Given the description of an element on the screen output the (x, y) to click on. 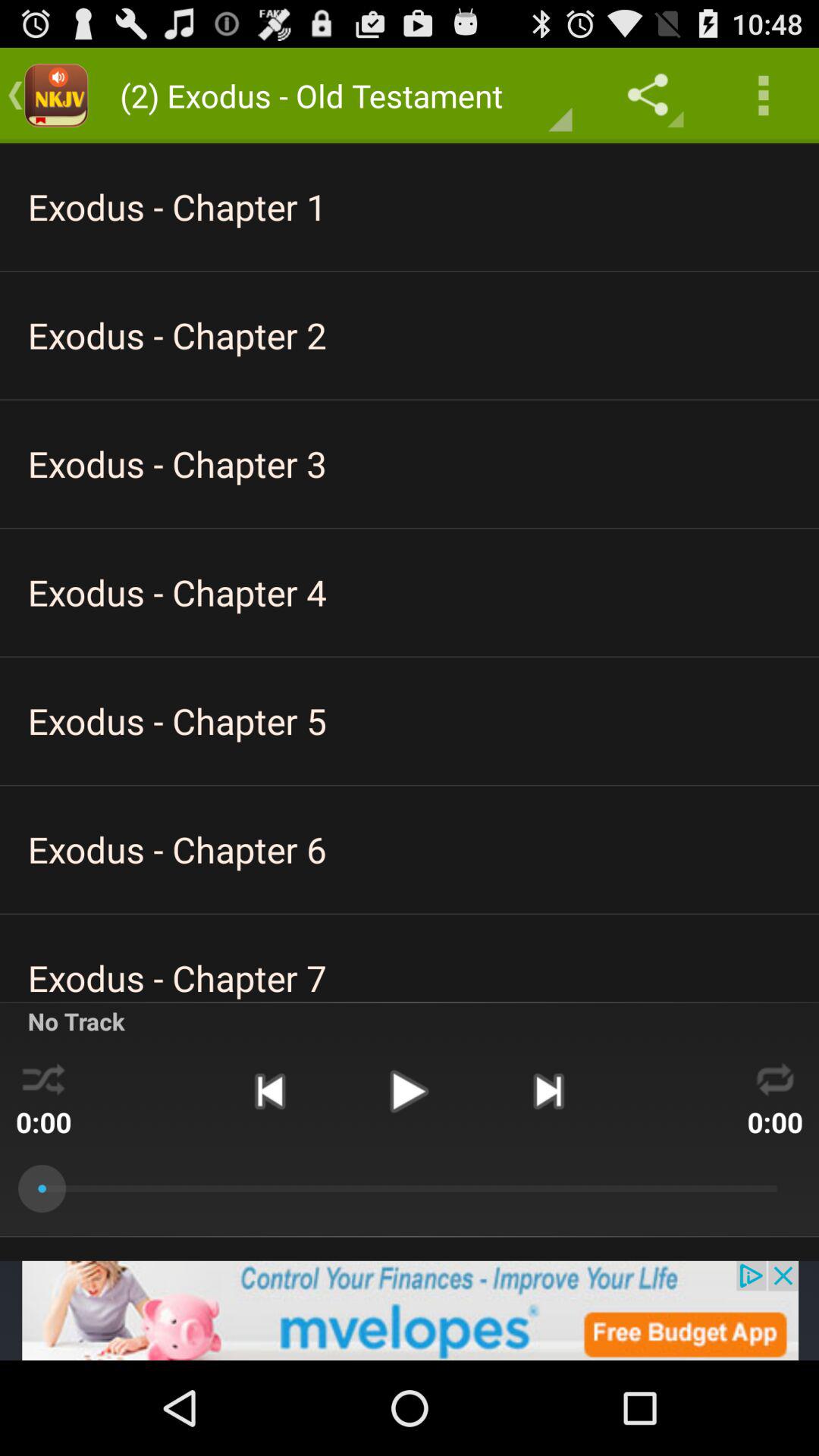
select the bottom right button of page (775, 1077)
click on 2 exodus  old testament (337, 95)
select the symbol which is to the first left of 000 (548, 1091)
